Given the description of an element on the screen output the (x, y) to click on. 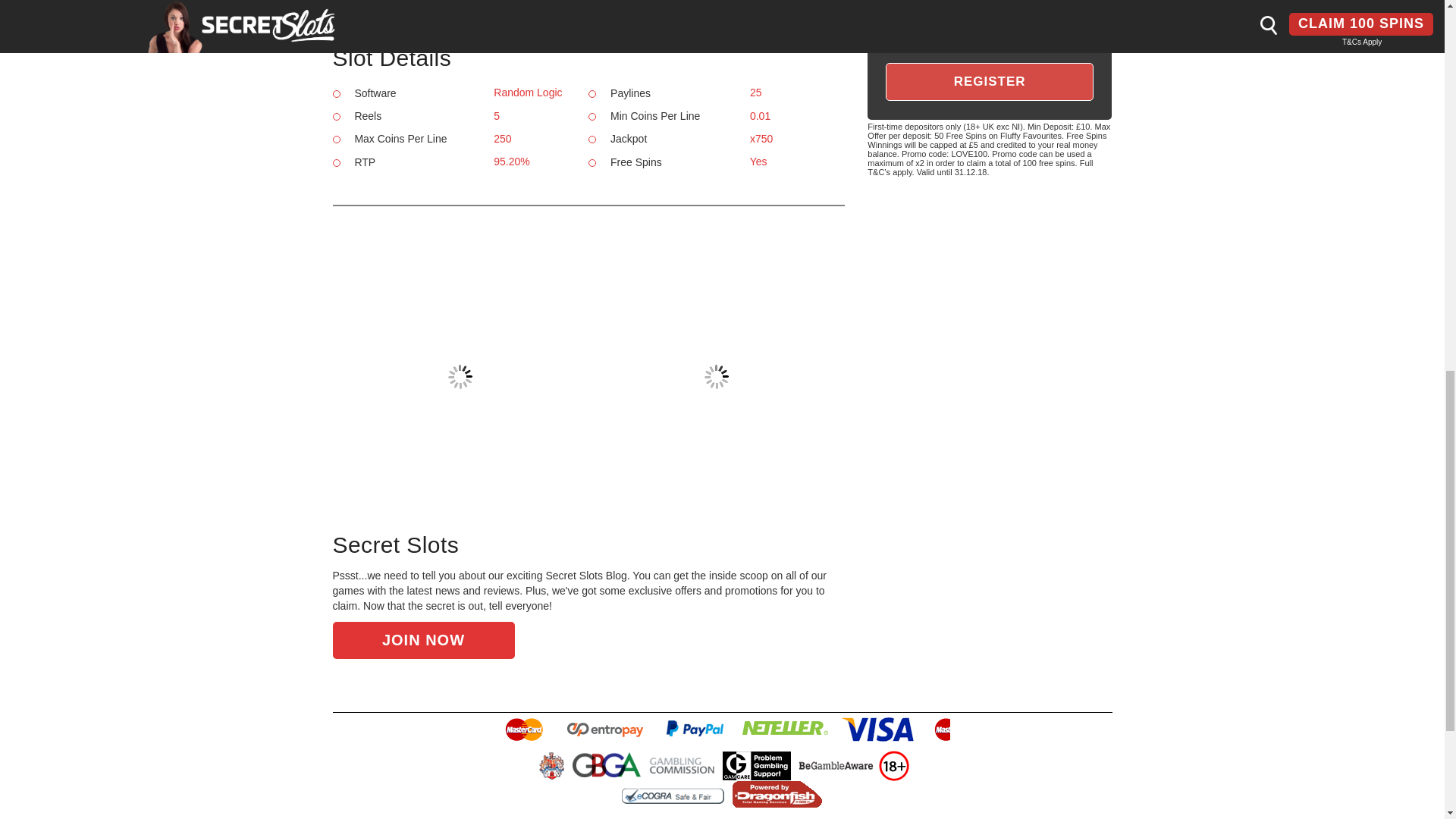
Responsible Gaming (893, 765)
Goverment of Gibraltar (552, 765)
Responsible Gaming (893, 766)
JOIN NOW (422, 640)
Gibralter Betting And Gaming Association (608, 765)
Gibralter Betting And Gaming Association (606, 765)
BeGambleAware (835, 765)
Gambling Commission (681, 765)
Powered by Dragonfish (777, 793)
GamCare (757, 765)
